Given the description of an element on the screen output the (x, y) to click on. 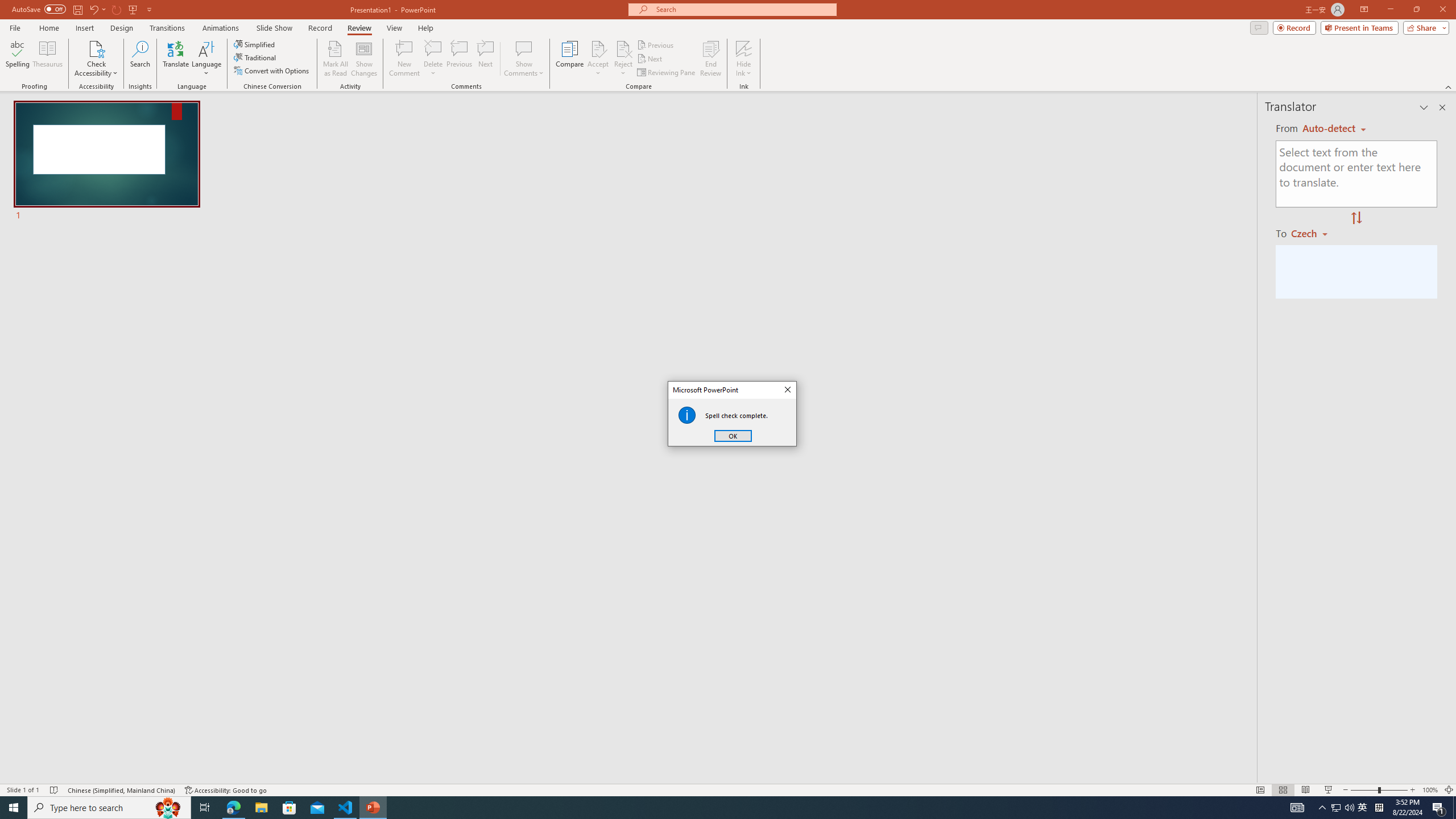
OK (732, 435)
